Given the description of an element on the screen output the (x, y) to click on. 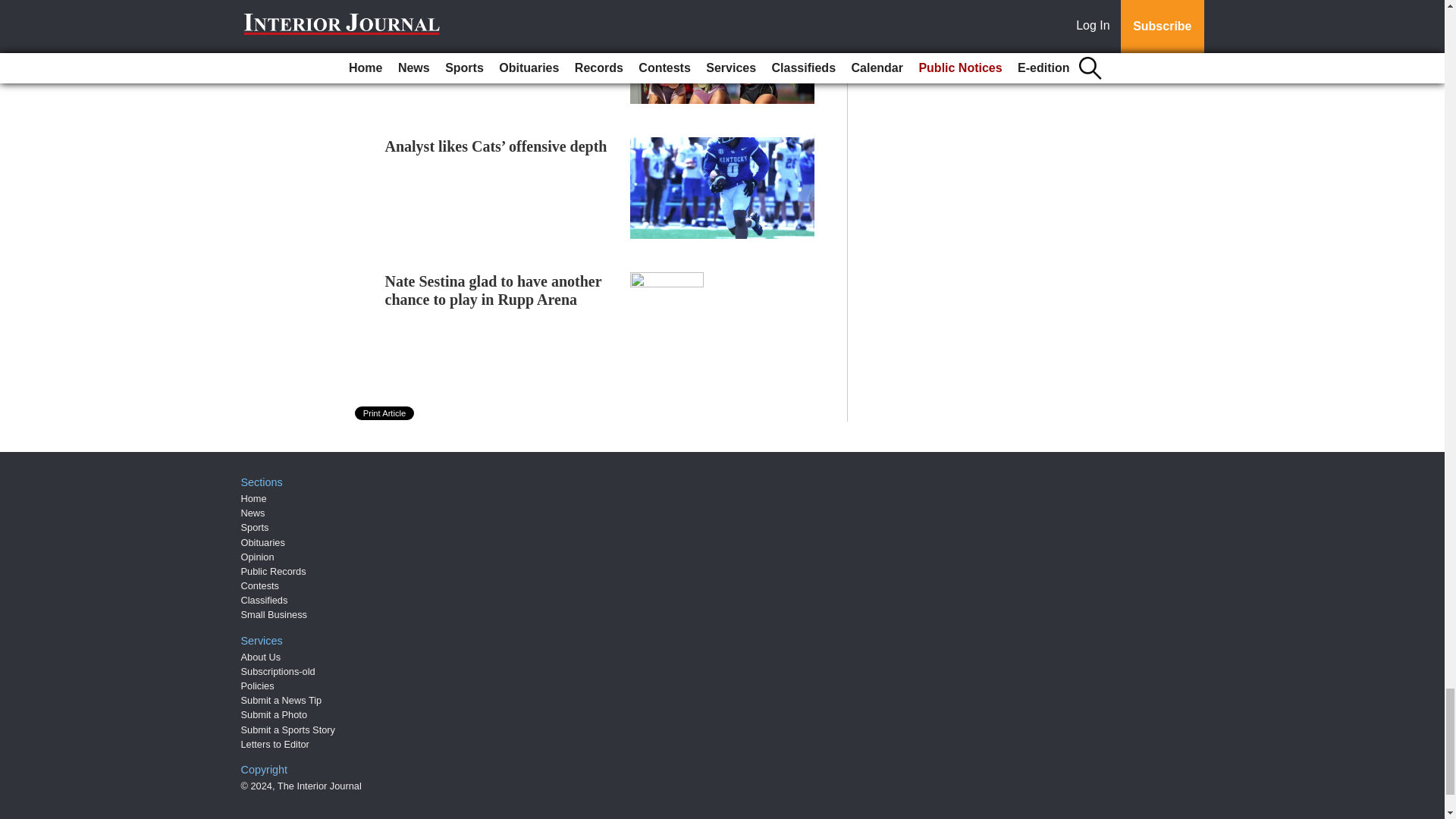
News (252, 512)
Home (253, 498)
Former Cat punches ticket to Paris (498, 12)
Print Article (384, 413)
Sports (255, 527)
Opinion (258, 556)
Former Cat punches ticket to Paris (498, 12)
Obituaries (263, 542)
